Given the description of an element on the screen output the (x, y) to click on. 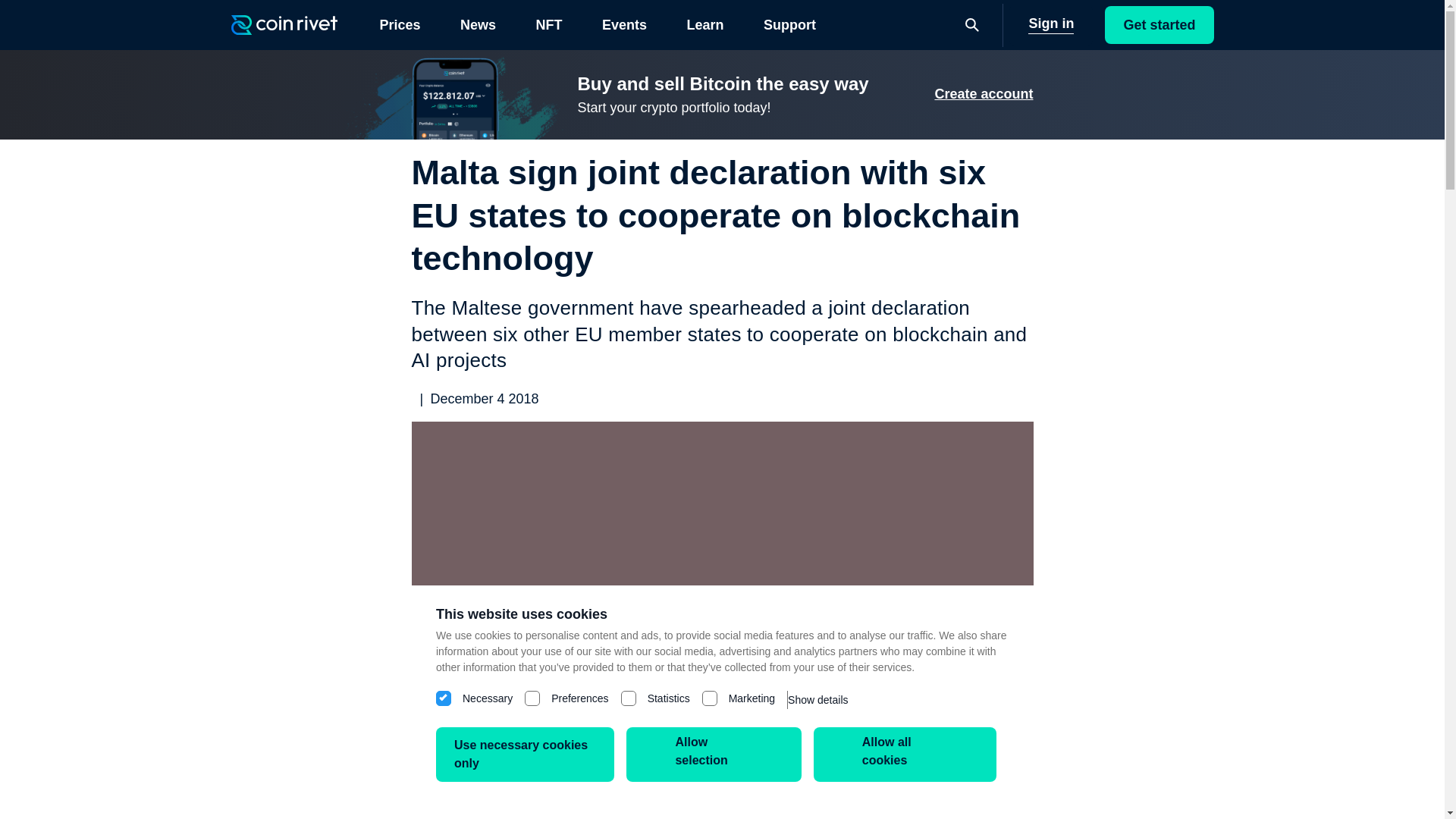
Show details (817, 699)
NFT (547, 24)
News (477, 24)
Prices (399, 24)
Get started (1158, 24)
Sign in (1051, 24)
Learn (704, 24)
Use necessary cookies only (524, 754)
Events (624, 24)
Support (789, 24)
Allow selection (713, 754)
Allow all cookies (904, 754)
